Given the description of an element on the screen output the (x, y) to click on. 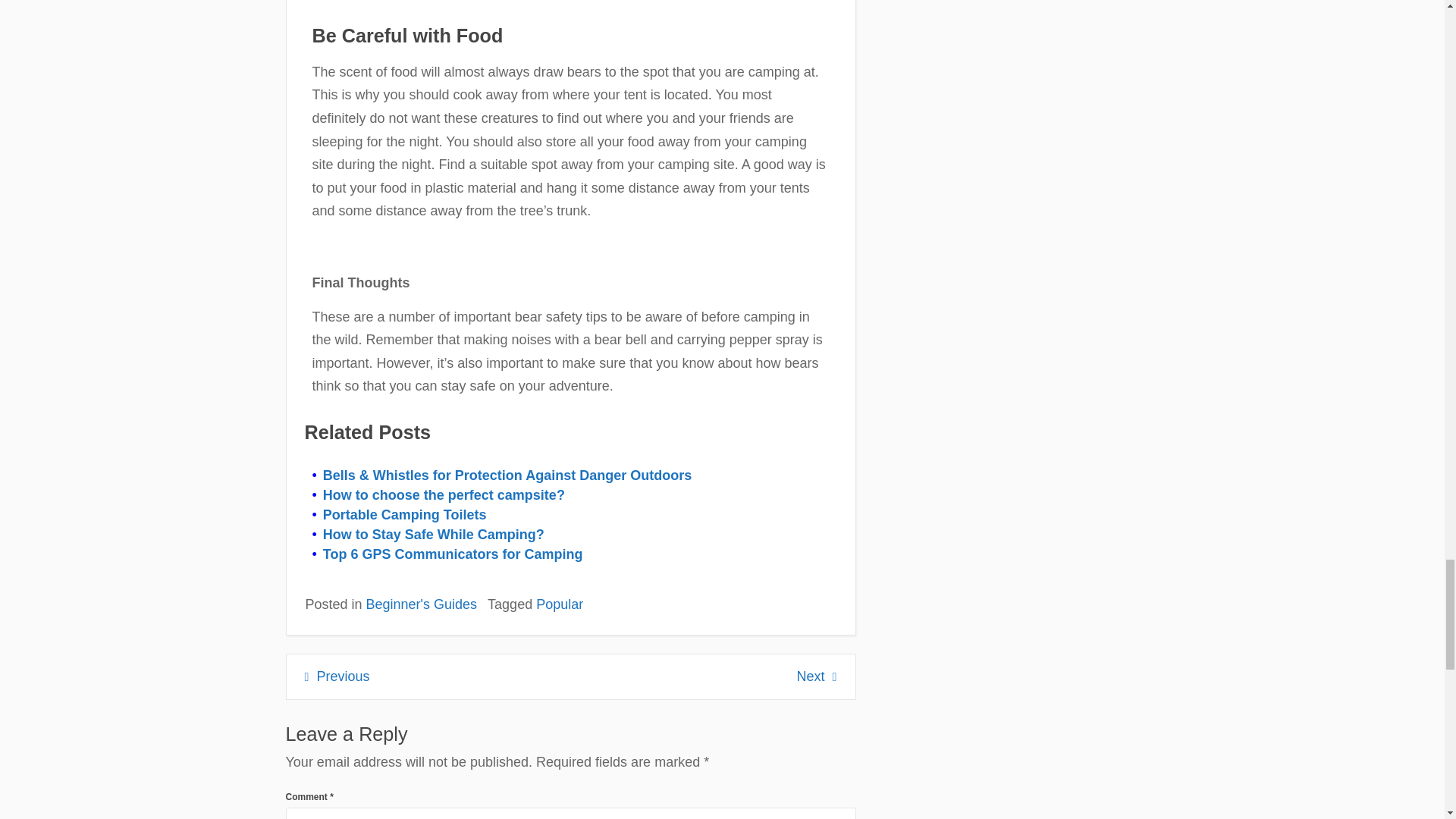
Popular (559, 604)
Beginner's Guides (421, 604)
How to choose the perfect campsite? (443, 494)
Top 6 GPS Communicators for Camping (453, 554)
Previous (336, 676)
Portable Camping Toilets (404, 514)
How to Stay Safe While Camping? (433, 534)
Next (816, 676)
